Given the description of an element on the screen output the (x, y) to click on. 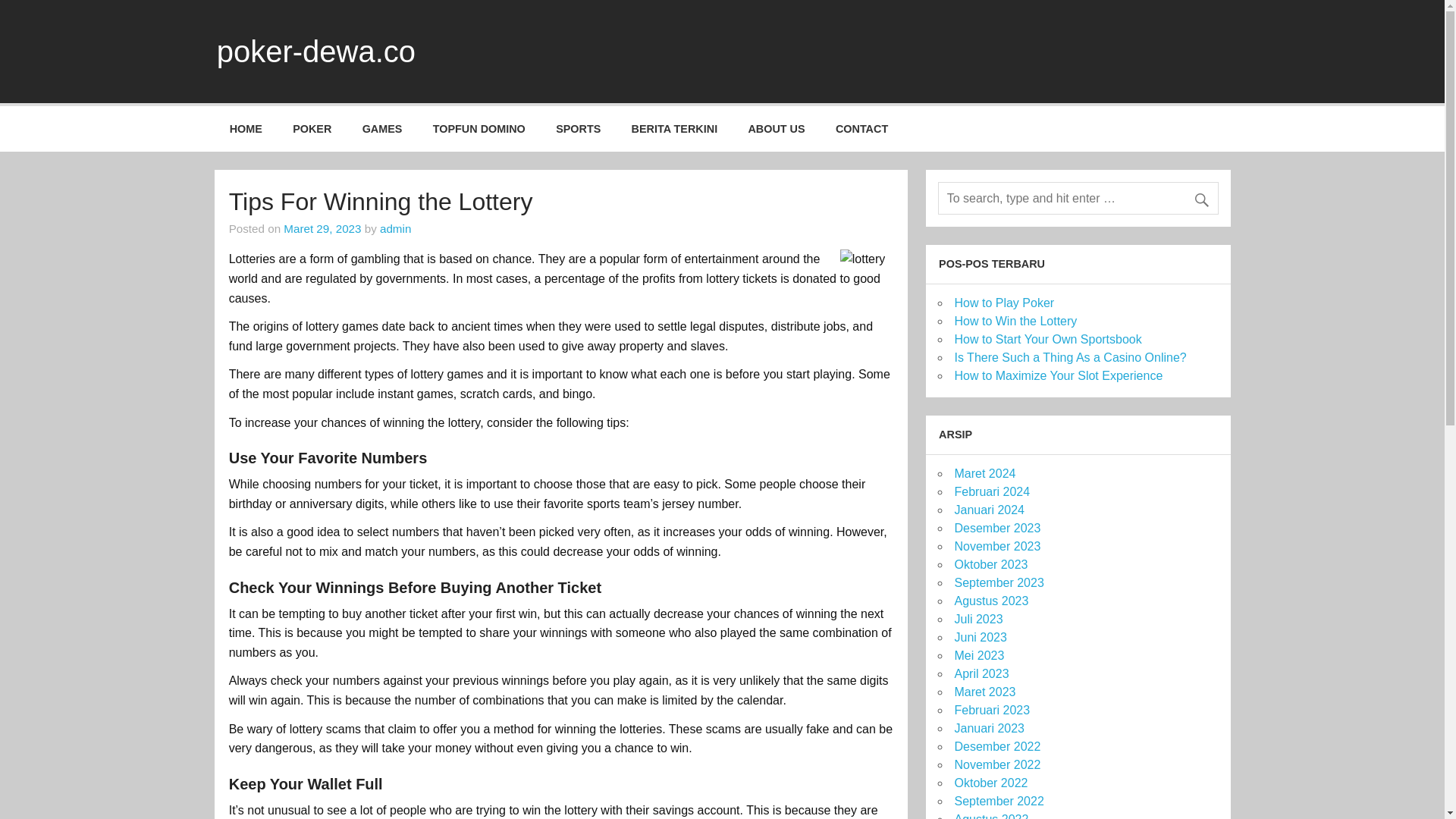
September 2023 (998, 582)
How to Win the Lottery (1015, 320)
November 2023 (997, 545)
Juni 2023 (979, 636)
Januari 2023 (989, 727)
Is There Such a Thing As a Casino Online? (1069, 357)
September 2022 (998, 800)
GAMES (382, 128)
Oktober 2022 (990, 782)
Mei 2023 (978, 655)
How to Play Poker (1003, 302)
Desember 2023 (997, 527)
How to Maximize Your Slot Experience (1057, 375)
HOME (246, 128)
Desember 2022 (997, 746)
